Given the description of an element on the screen output the (x, y) to click on. 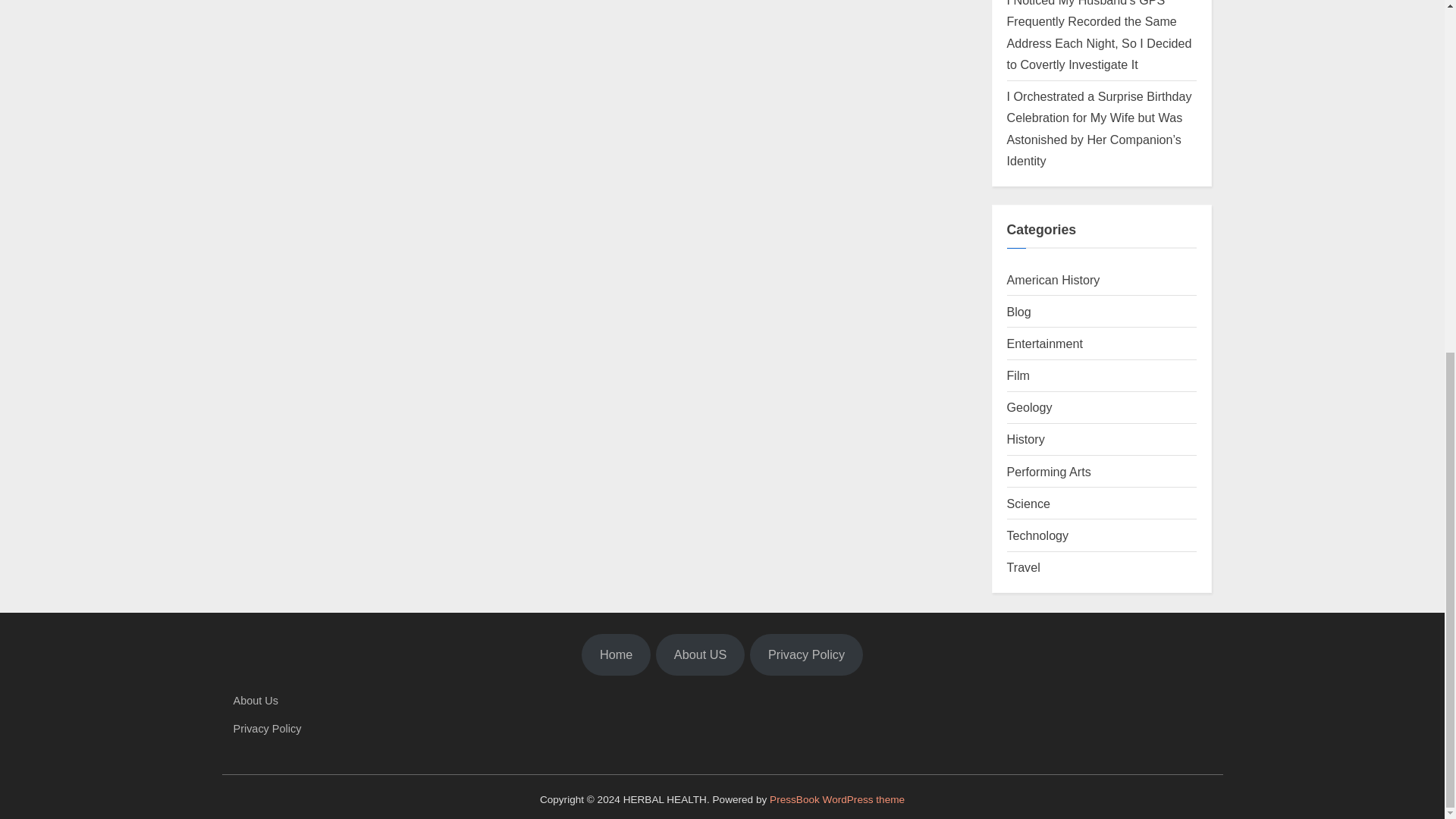
Science (1028, 503)
Performing Arts (1048, 471)
Geology (1029, 407)
Entertainment (1045, 343)
Blog (1018, 311)
American History (1053, 279)
Technology (1037, 535)
Film (1018, 375)
History (1026, 438)
